Given the description of an element on the screen output the (x, y) to click on. 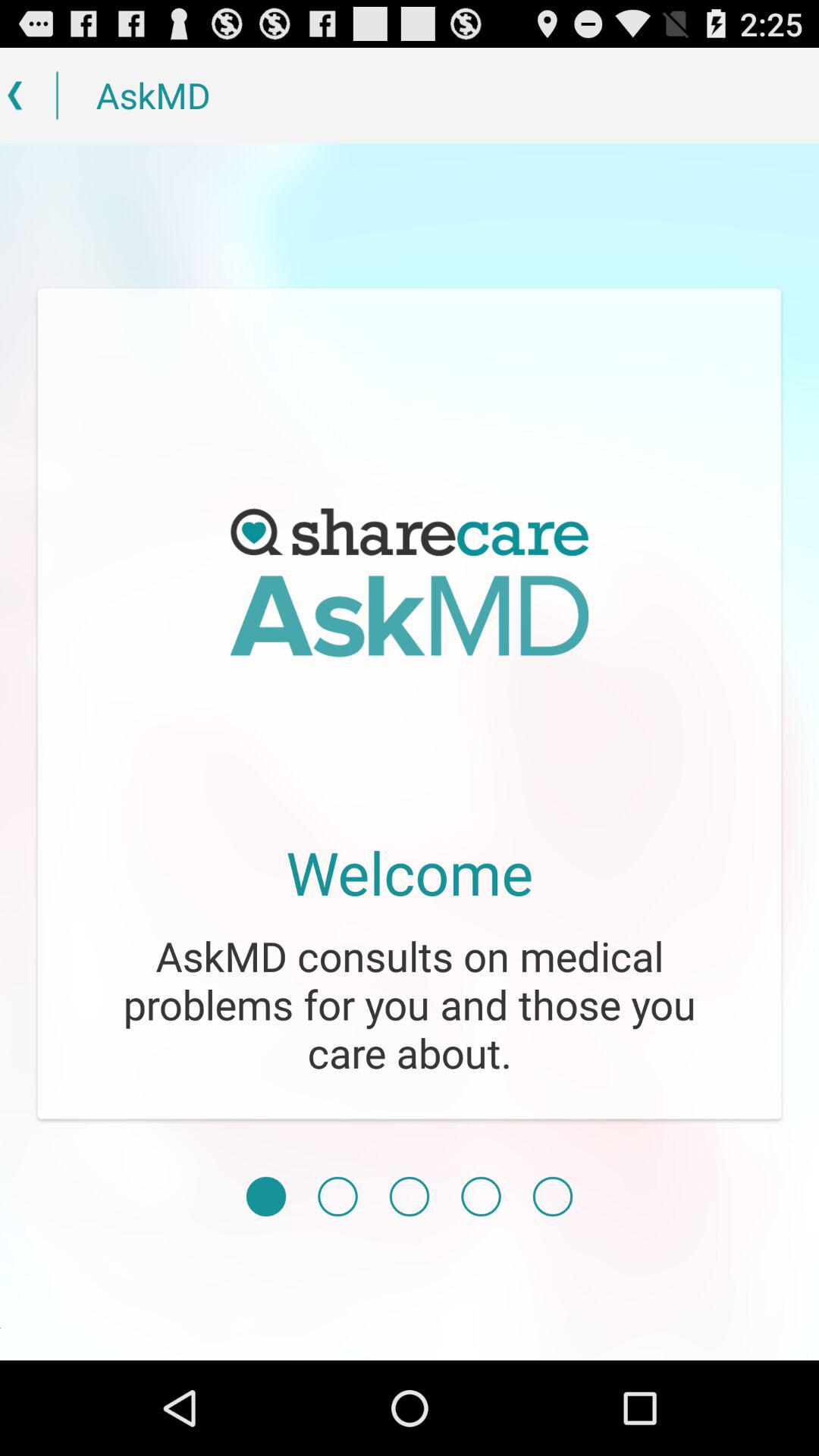
choose page (409, 1196)
